Given the description of an element on the screen output the (x, y) to click on. 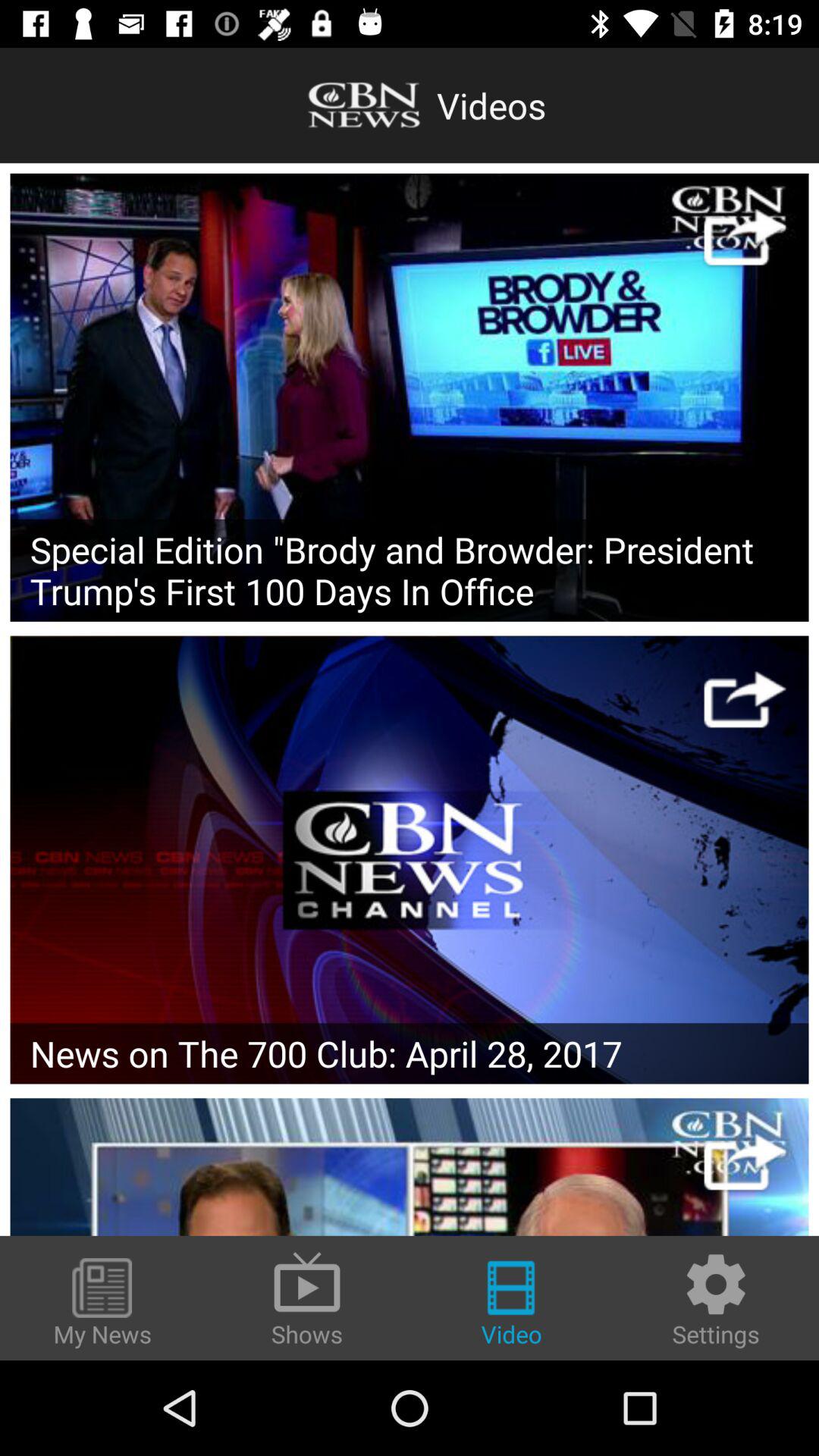
scroll until the news on the icon (409, 1053)
